Given the description of an element on the screen output the (x, y) to click on. 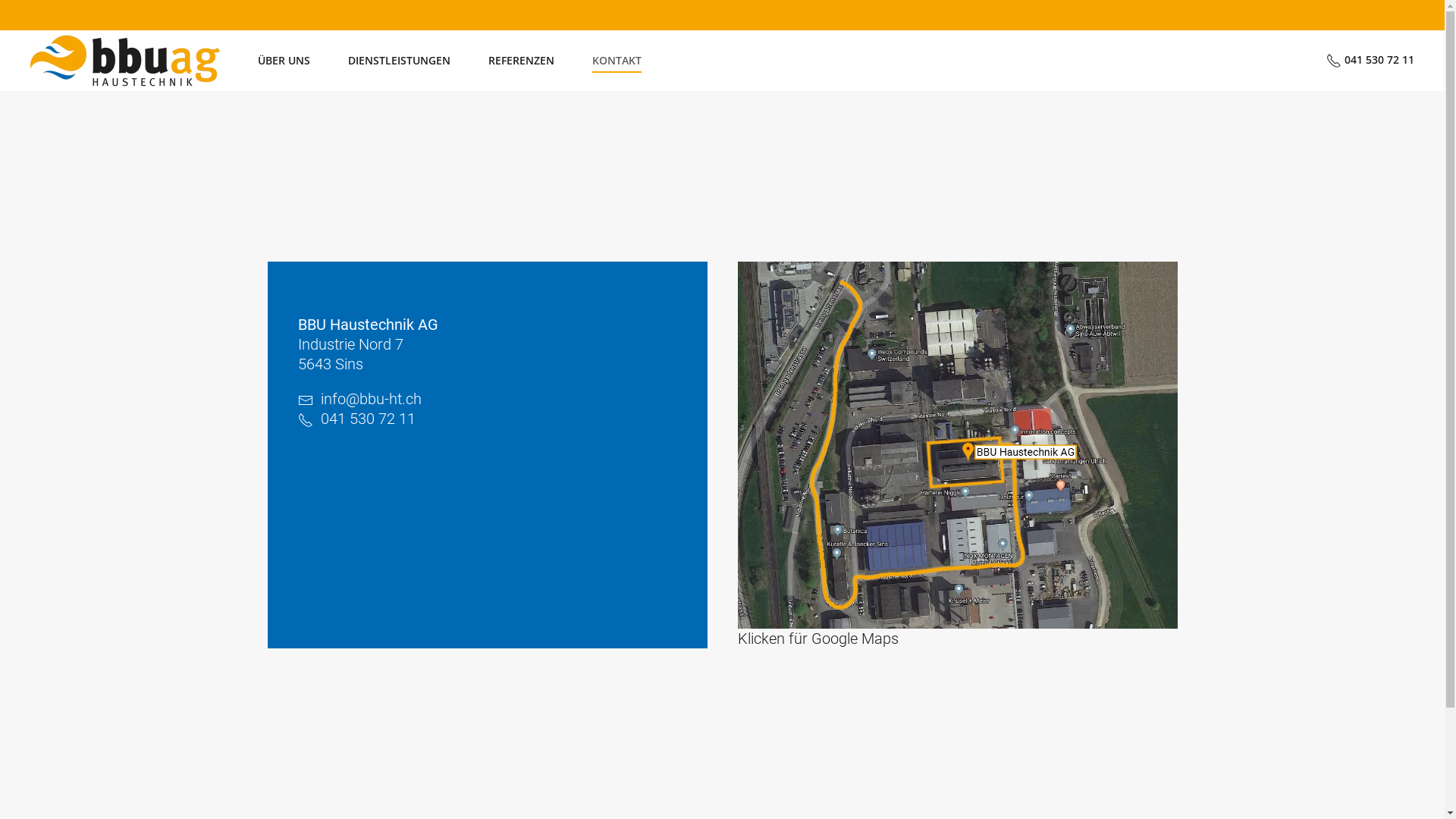
DIENSTLEISTUNGEN Element type: text (399, 60)
KONTAKT Element type: text (616, 60)
REFERENZEN Element type: text (521, 60)
info@bbu-ht.ch Element type: text (370, 398)
